Given the description of an element on the screen output the (x, y) to click on. 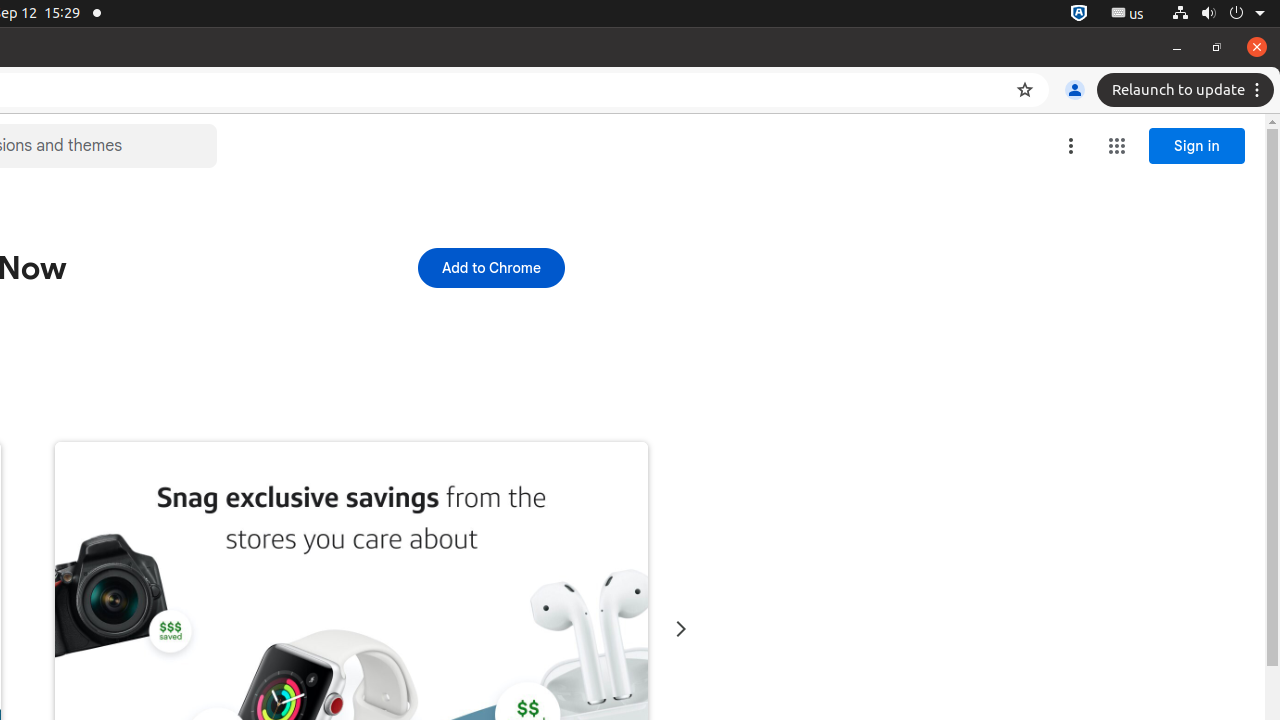
Bookmark this tab Element type: push-button (1025, 90)
Google apps Element type: push-button (1117, 145)
More options menu Element type: push-button (1071, 145)
System Element type: menu (1218, 13)
Relaunch to update Element type: push-button (1188, 90)
